Given the description of an element on the screen output the (x, y) to click on. 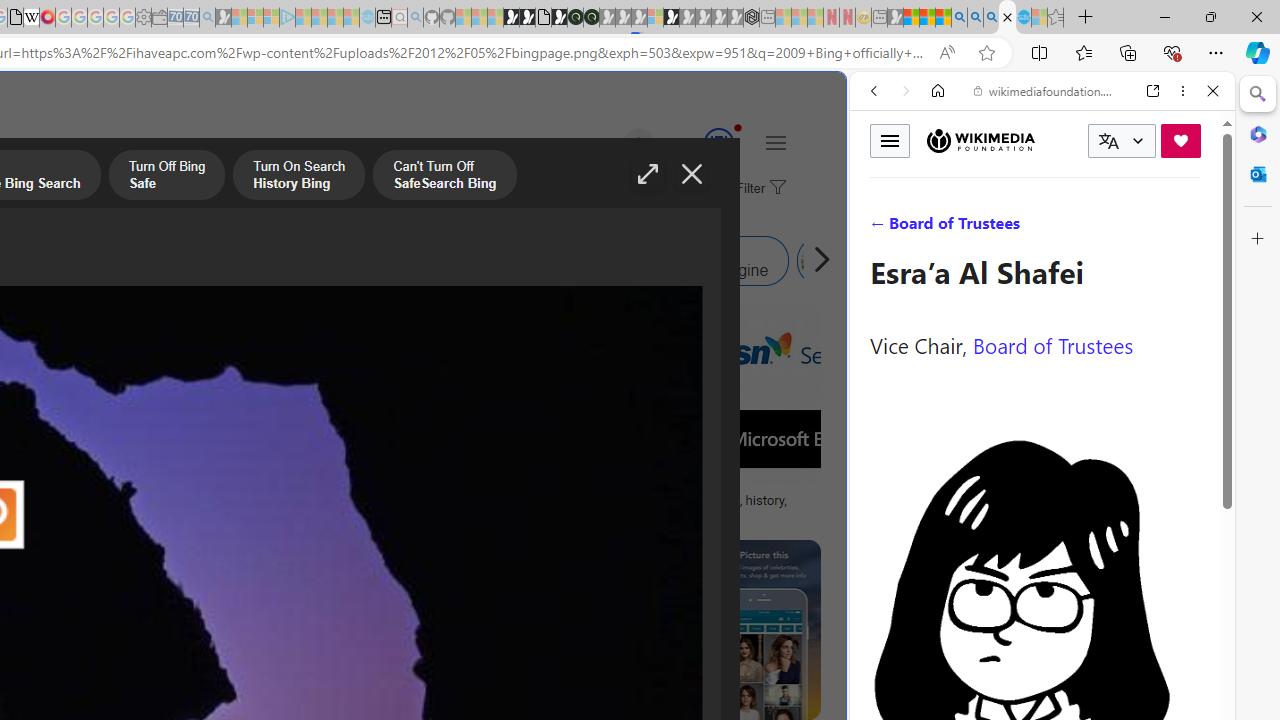
Toggle menu (890, 140)
Class: b_serphb (1190, 229)
MSN Homepage Bing Search Engine (69, 260)
Scroll right (816, 260)
Microsoft Start Gaming - Sleeping (223, 17)
Search the web (1051, 137)
Close Customize pane (1258, 239)
Search Filter, IMAGES (939, 228)
CURRENT LANGUAGE: (1121, 141)
Close image (692, 173)
